Given the description of an element on the screen output the (x, y) to click on. 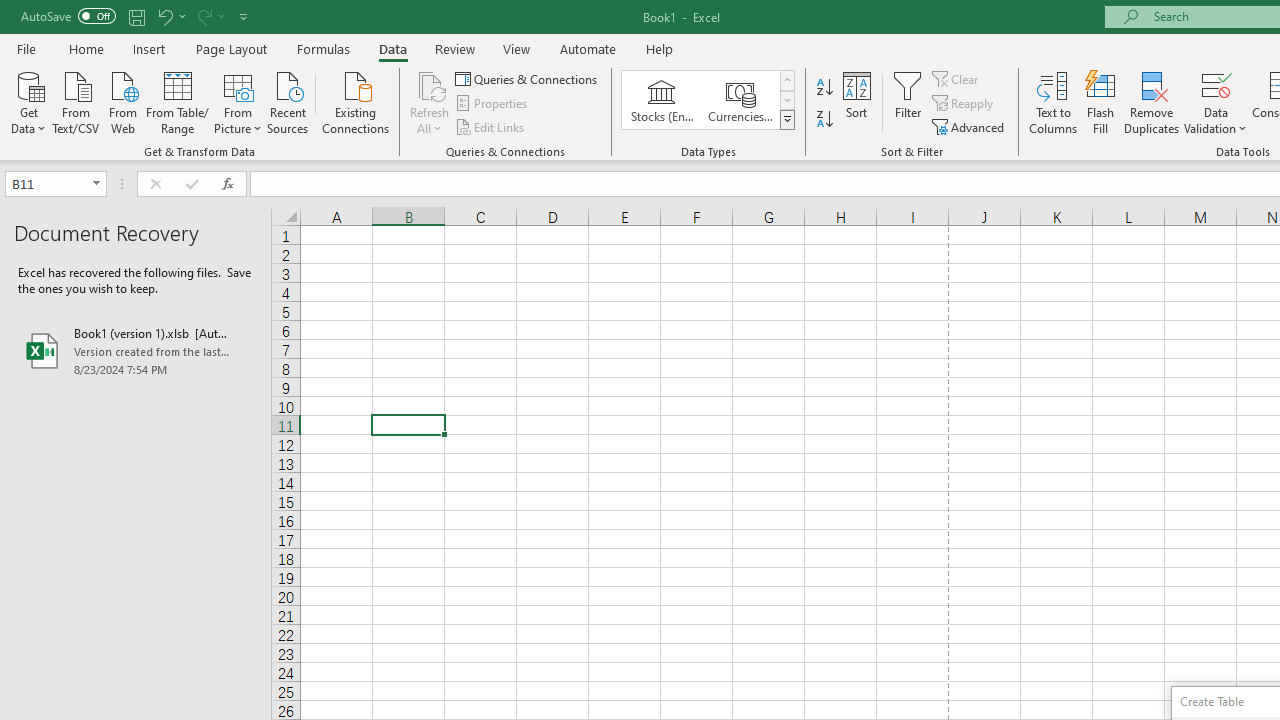
Formulas (323, 48)
Sort... (856, 102)
View (517, 48)
From Table/Range (177, 101)
System (10, 11)
Get Data (28, 101)
Properties (492, 103)
Review (454, 48)
Data (392, 48)
Reapply (964, 103)
Undo (164, 15)
Refresh All (429, 102)
Insert (149, 48)
Row up (786, 79)
